Given the description of an element on the screen output the (x, y) to click on. 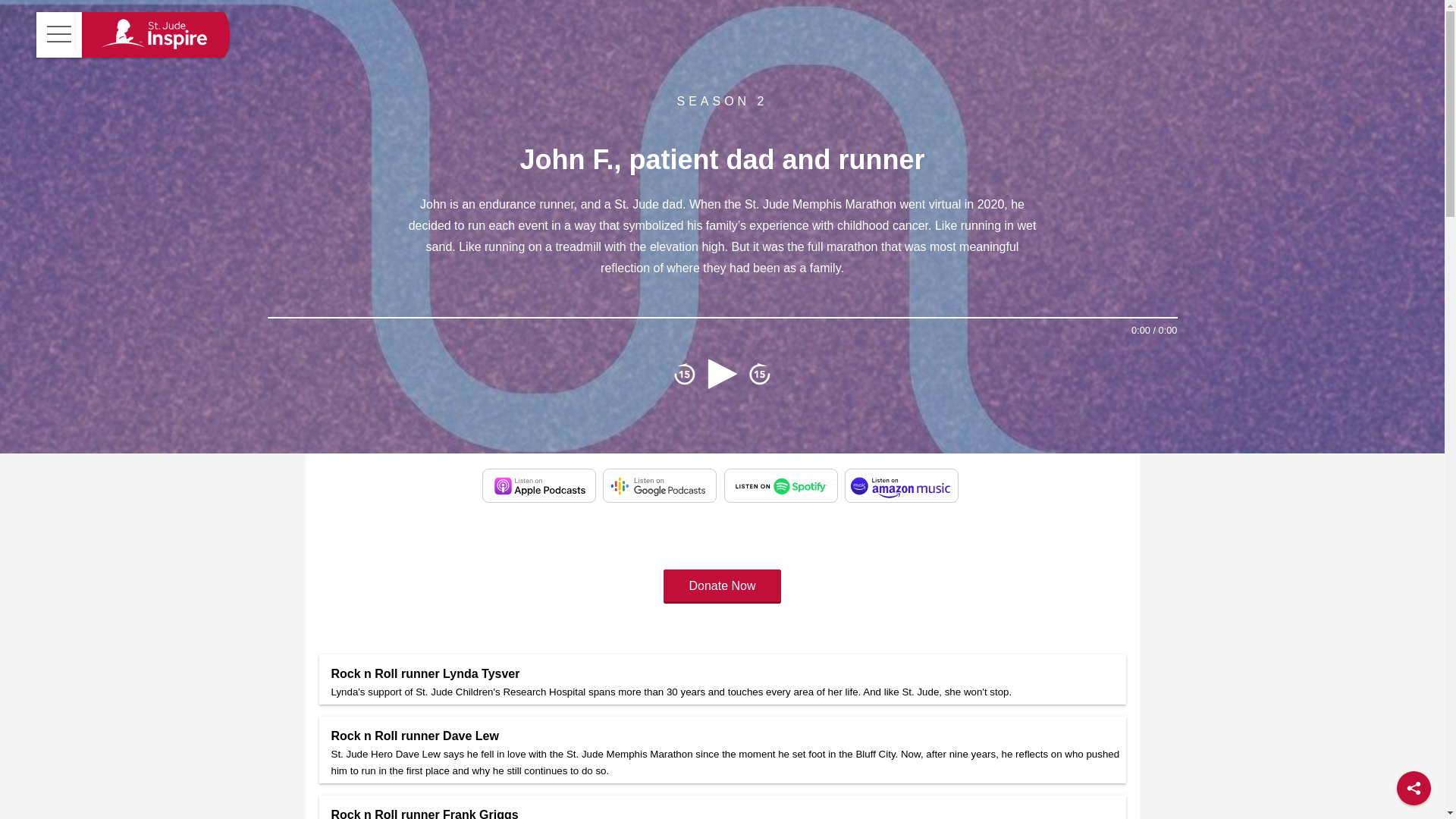
Amazon Music Podcasts (901, 485)
Apple Podcasts (538, 485)
Google Podcasts (659, 485)
St. Jude Inspire Homepage (152, 34)
Main Menu (58, 34)
Donate Now (721, 585)
Spotify Podcasts (780, 485)
